Given the description of an element on the screen output the (x, y) to click on. 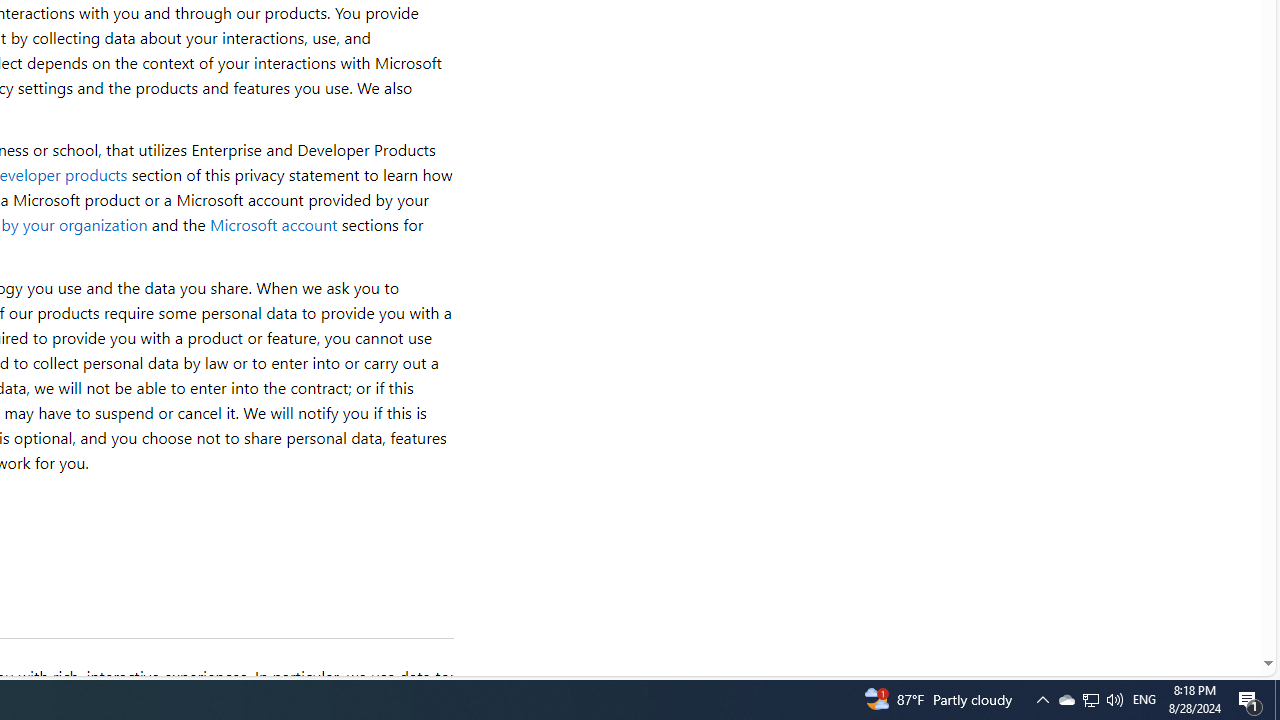
Microsoft account (273, 224)
